Given the description of an element on the screen output the (x, y) to click on. 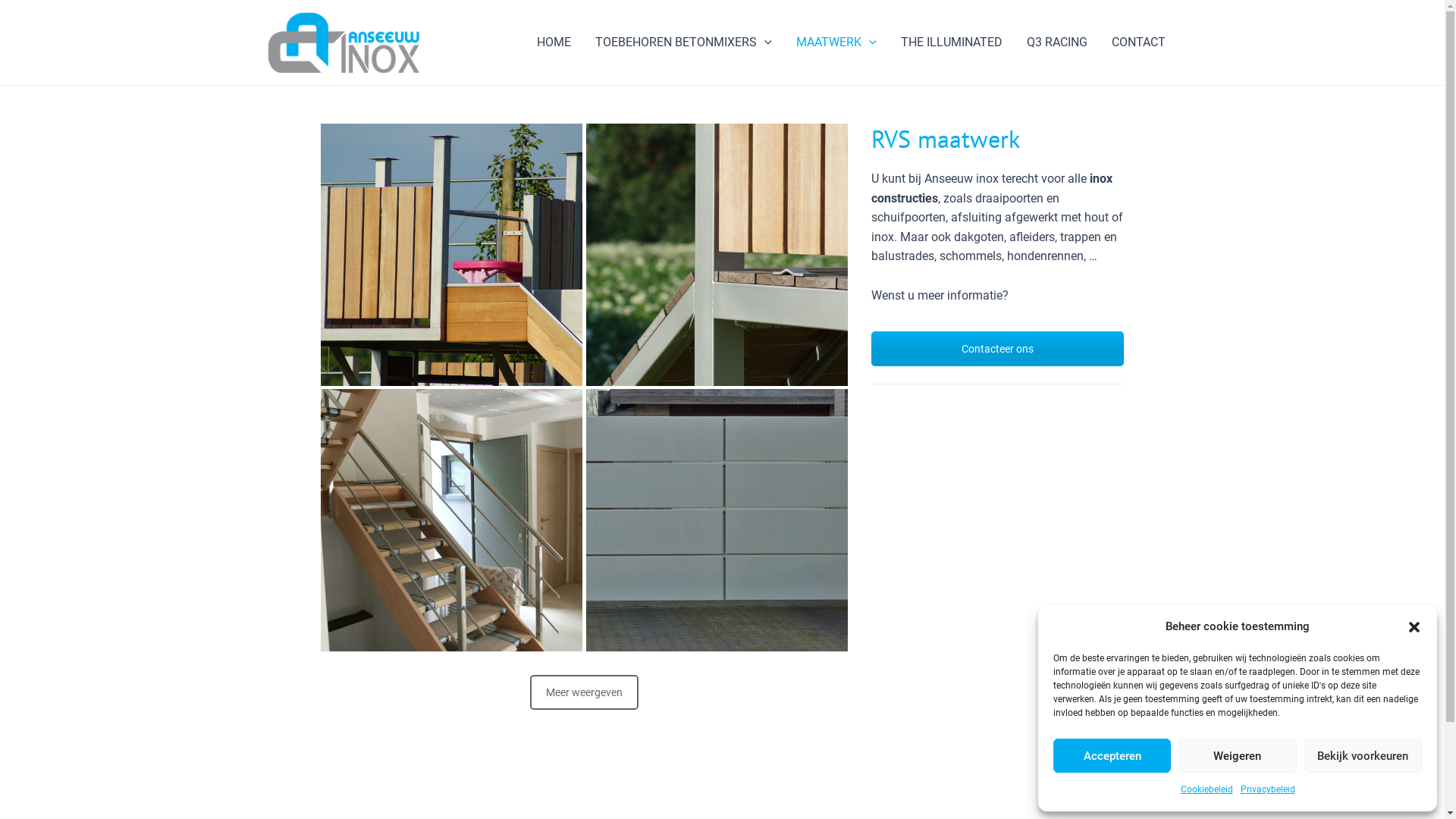
Cookiebeleid Element type: text (1205, 790)
HOME Element type: text (553, 42)
Accepteren Element type: text (1111, 755)
THE ILLUMINATED Element type: text (951, 42)
Privacybeleid Element type: text (1267, 790)
Weigeren Element type: text (1236, 755)
MAATWERK Element type: text (836, 42)
Bekijk voorkeuren Element type: text (1362, 755)
Contacteer ons Element type: text (997, 348)
Meer weergeven Element type: text (584, 691)
TOEBEHOREN BETONMIXERS Element type: text (683, 42)
CONTACT Element type: text (1138, 42)
Q3 RACING Element type: text (1056, 42)
